Given the description of an element on the screen output the (x, y) to click on. 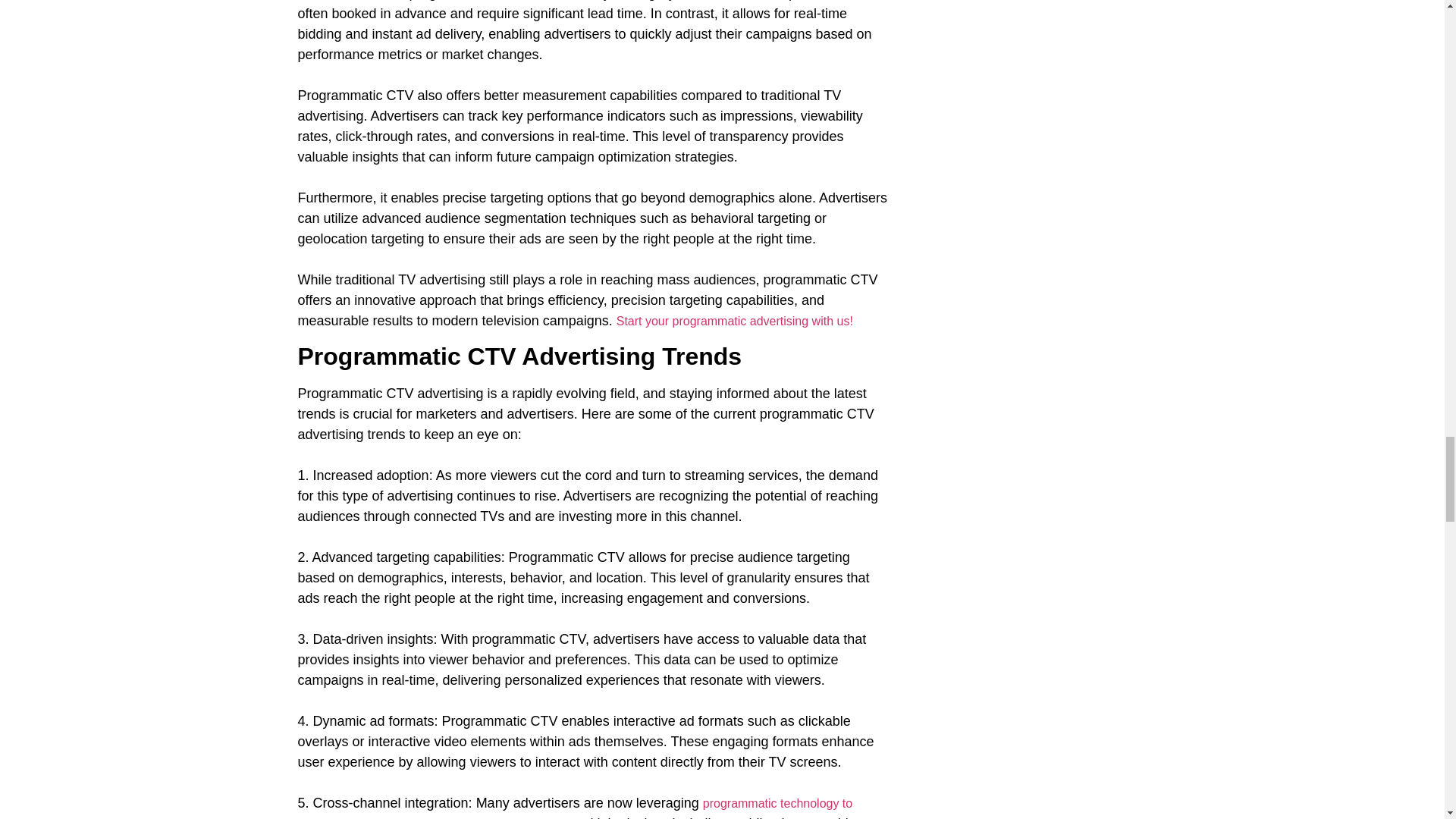
Start your programmatic advertising with us! (734, 320)
